Given the description of an element on the screen output the (x, y) to click on. 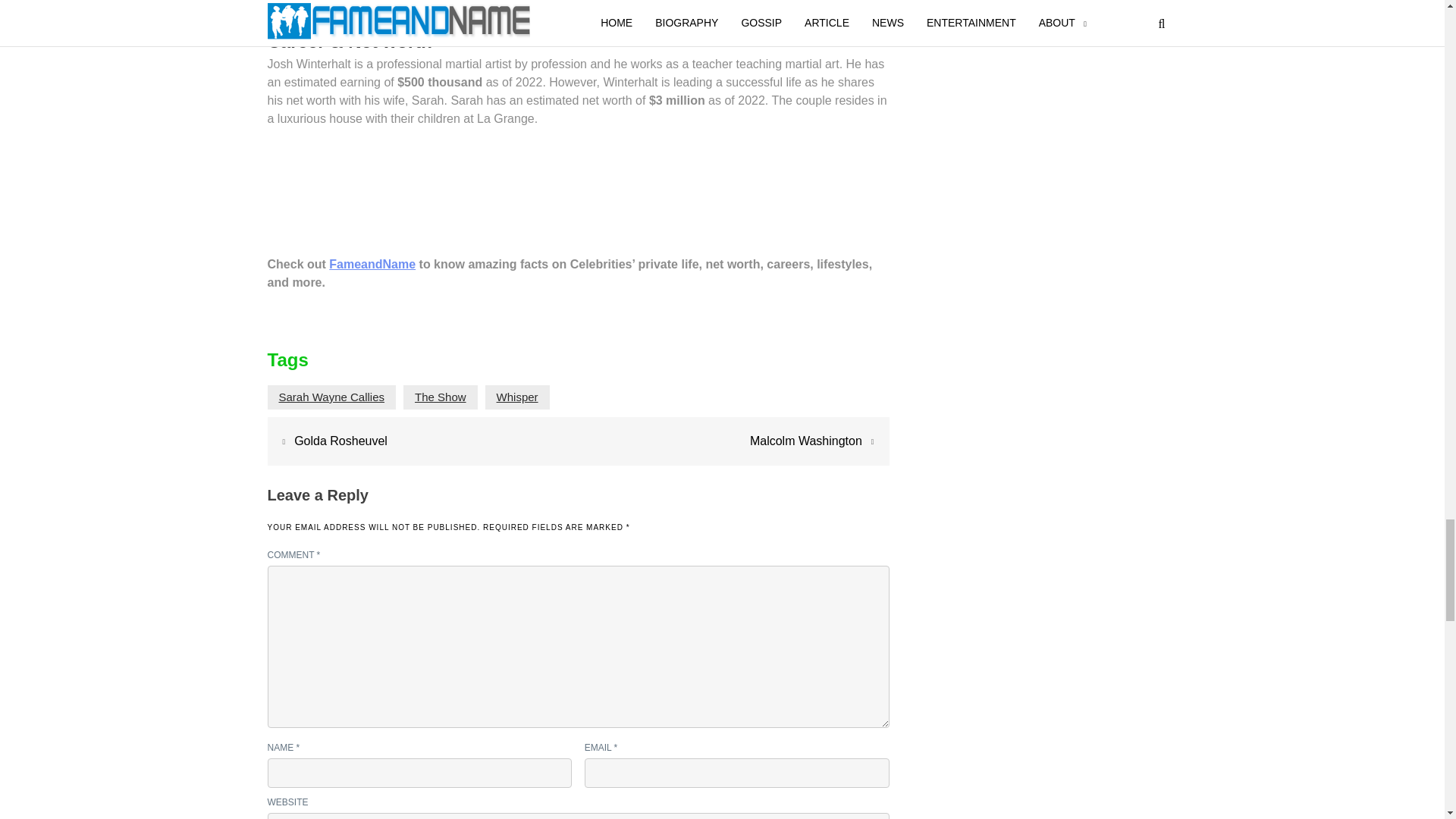
The Show (439, 396)
Malcolm Washington (805, 440)
Golda Rosheuvel (340, 440)
Whisper (517, 396)
FameandName (371, 264)
Sarah Wayne Callies (332, 396)
